Given the description of an element on the screen output the (x, y) to click on. 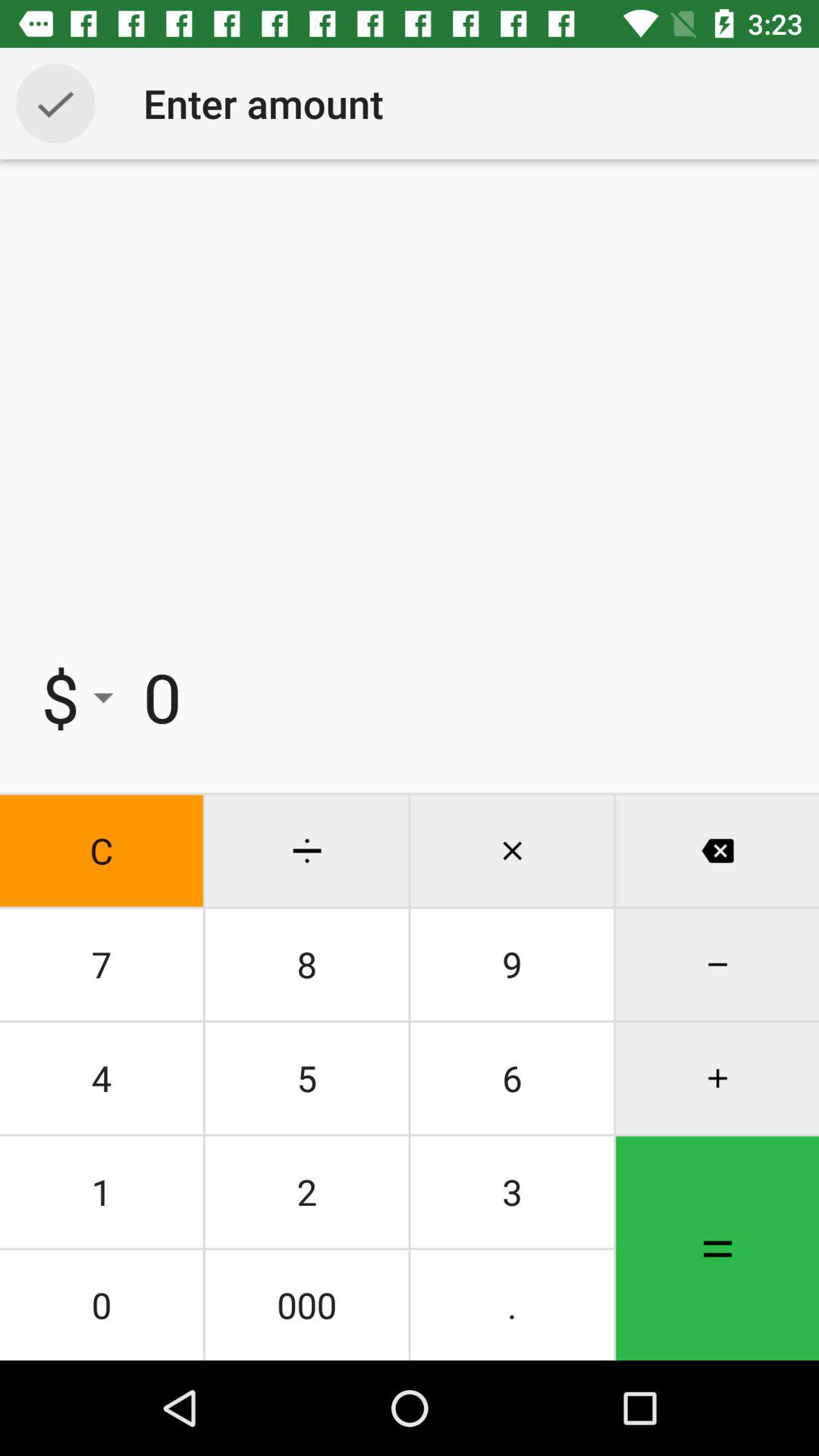
launch the icon to the left of the 9 item (306, 1078)
